Given the description of an element on the screen output the (x, y) to click on. 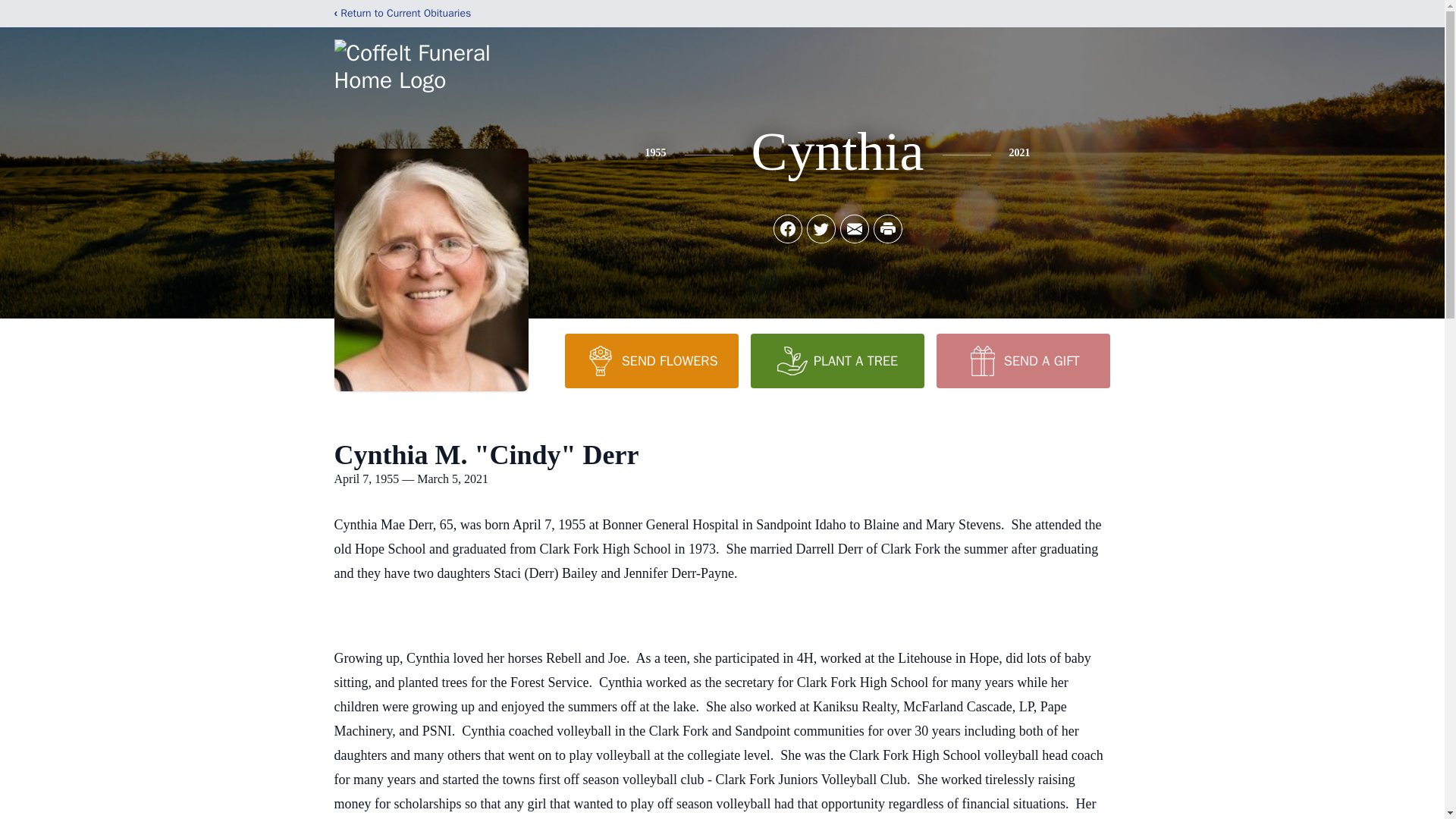
PLANT A TREE (837, 360)
SEND FLOWERS (651, 360)
SEND A GIFT (1022, 360)
